Given the description of an element on the screen output the (x, y) to click on. 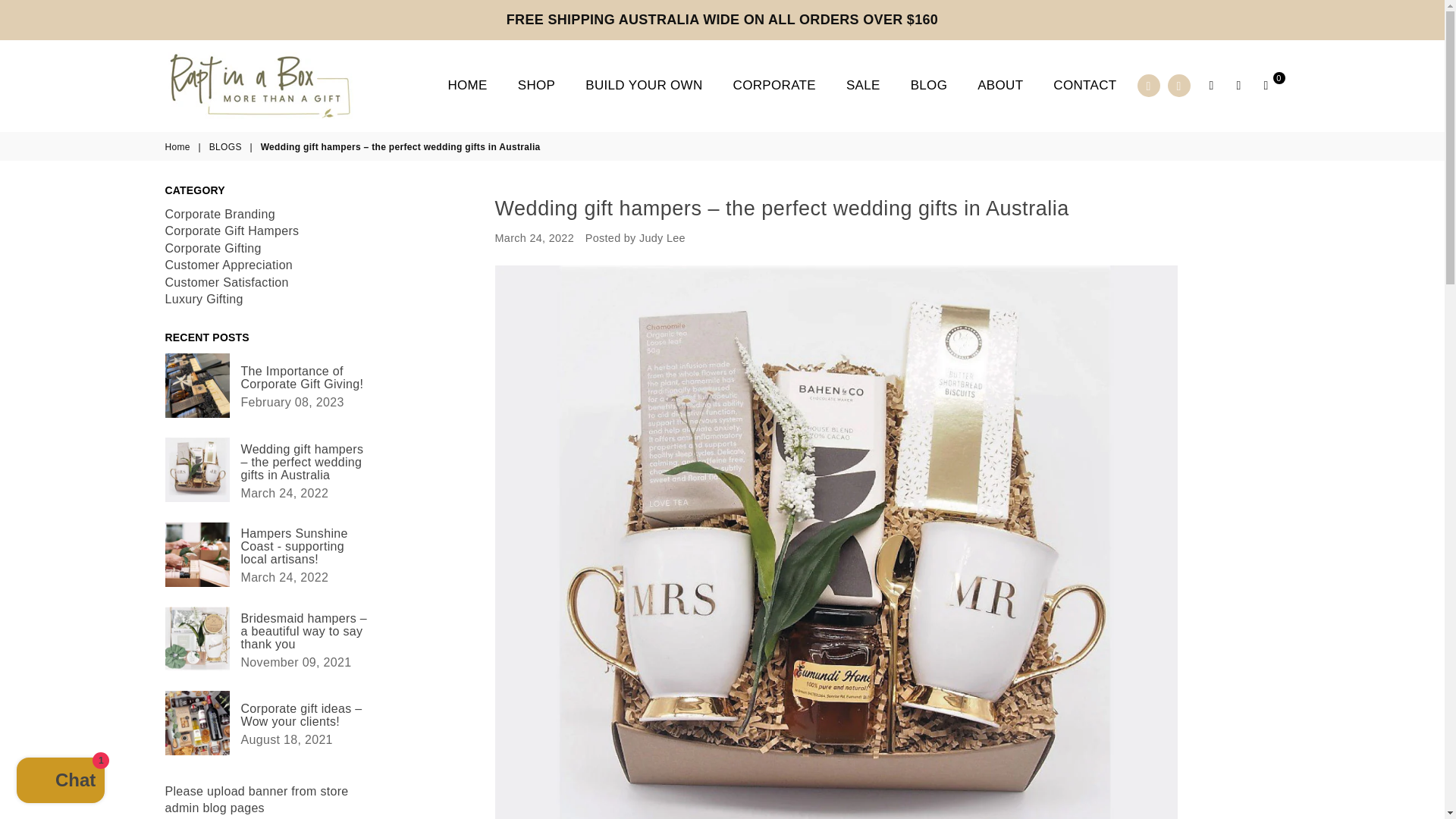
Back to the home page (178, 146)
Cart (1265, 85)
Show articles tagged Customer Appreciation (229, 264)
Search (1211, 85)
Facebook (1148, 85)
Show articles tagged Corporate Gifting (213, 247)
Show articles tagged Corporate Branding (220, 214)
0 (1265, 85)
ABOUT (999, 85)
Show articles tagged Customer Satisfaction (226, 282)
SHOP (536, 85)
CORPORATE (774, 85)
SALE (862, 85)
BLOG (929, 85)
Rapt in a Box on Instagram (1179, 85)
